Given the description of an element on the screen output the (x, y) to click on. 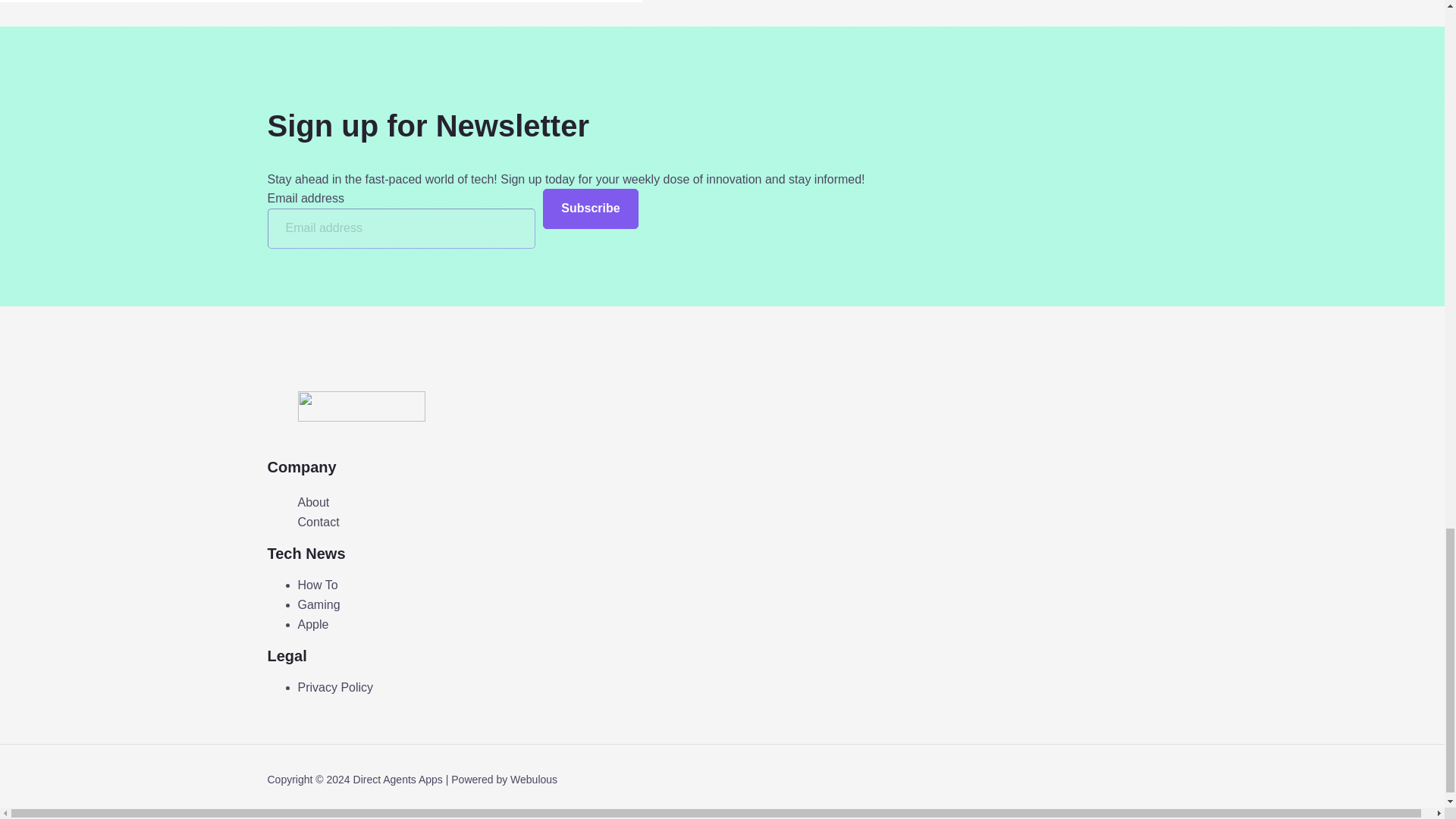
Please fill in this field. (400, 228)
Subscribe (590, 209)
Contact (318, 522)
About (313, 502)
Privacy Policy (334, 686)
Gaming (318, 604)
Apple (313, 624)
How To (317, 584)
